Given the description of an element on the screen output the (x, y) to click on. 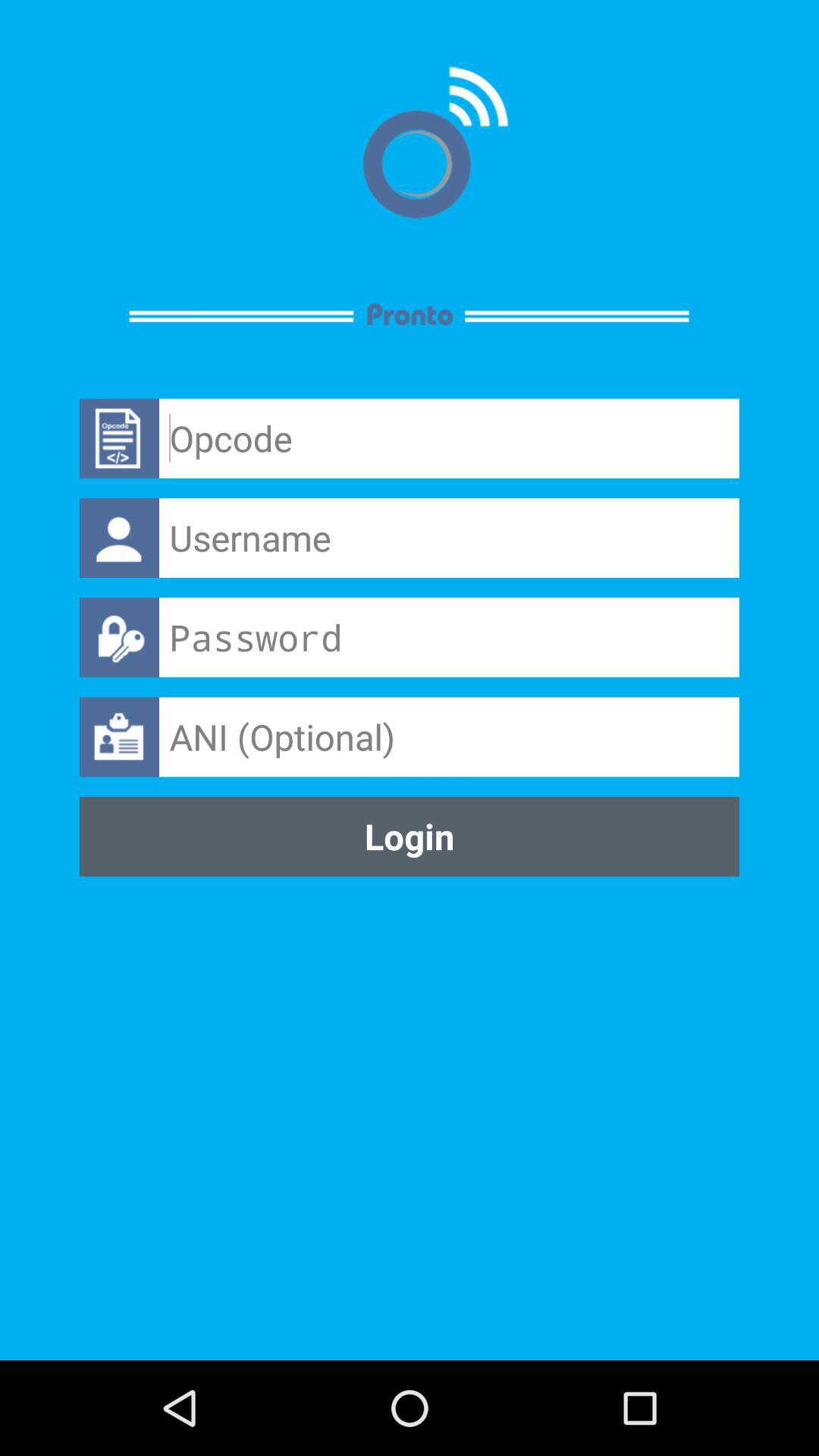
enter ani info (449, 736)
